Given the description of an element on the screen output the (x, y) to click on. 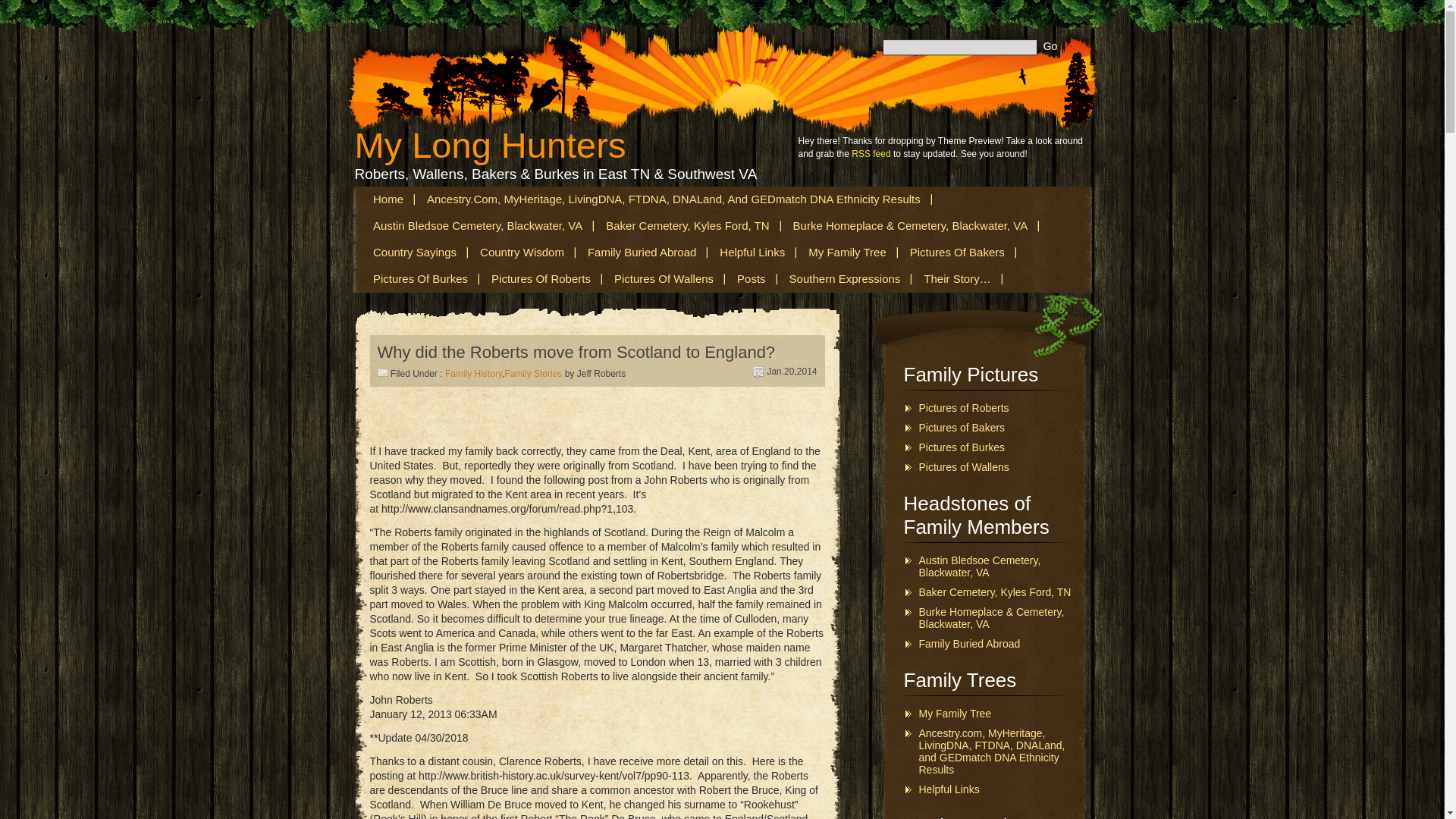
Family Stories (532, 373)
Posts (752, 279)
Country Wisdom (522, 252)
Pictures Of Roberts (541, 279)
RSS feed (870, 153)
My Long Hunters (490, 145)
Family Buried Abroad (642, 252)
Baker Cemetery, Kyles Ford, TN (688, 225)
Go (1050, 46)
Pictures Of Bakers (958, 252)
